Given the description of an element on the screen output the (x, y) to click on. 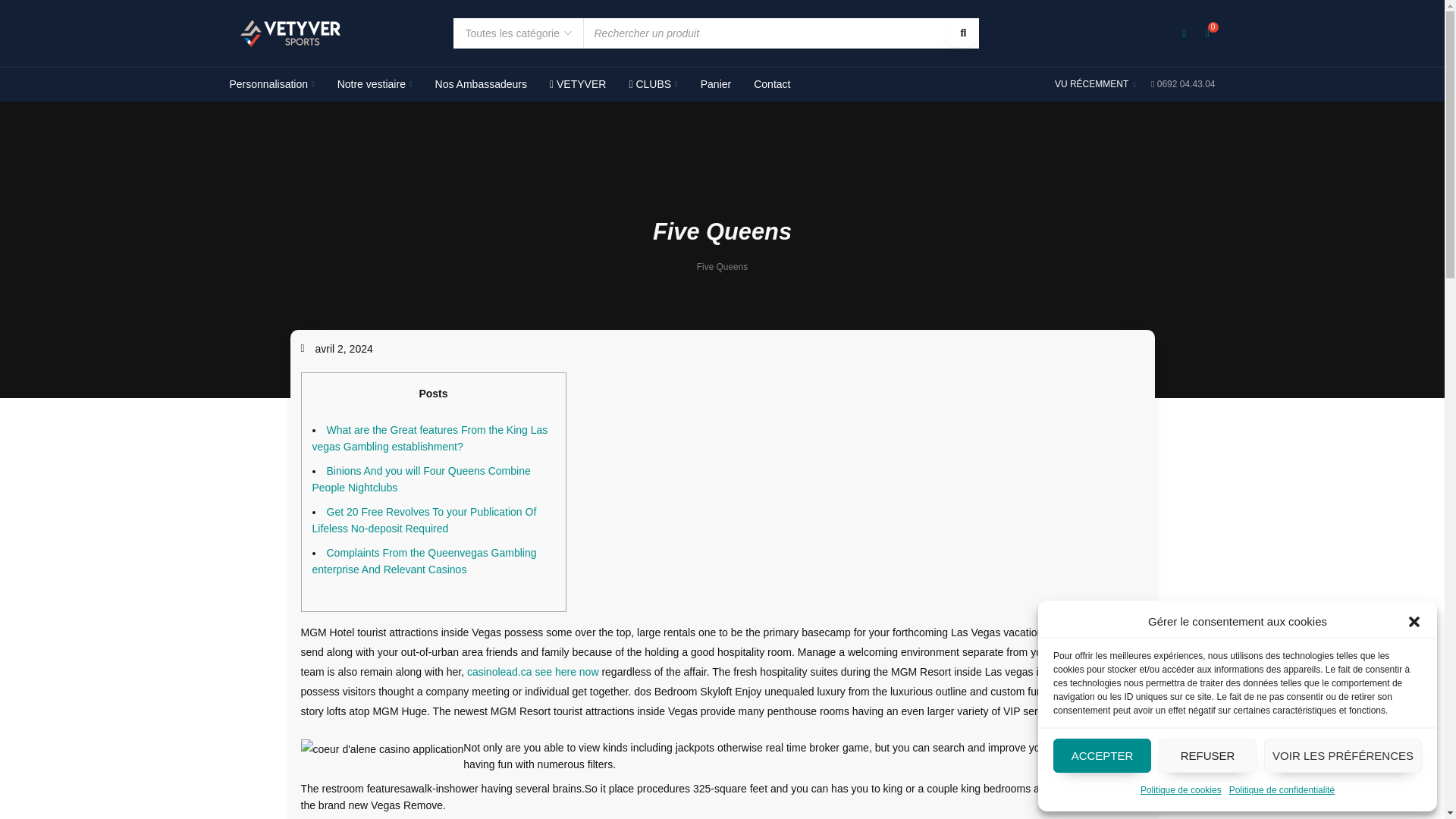
Politique de cookies (1180, 790)
ACCEPTER (1101, 755)
Rechercher (962, 32)
Rechercher (962, 32)
Vetyver Sports (289, 32)
REFUSER (1207, 755)
Rechercher (962, 32)
Personnalisation (271, 83)
